Given the description of an element on the screen output the (x, y) to click on. 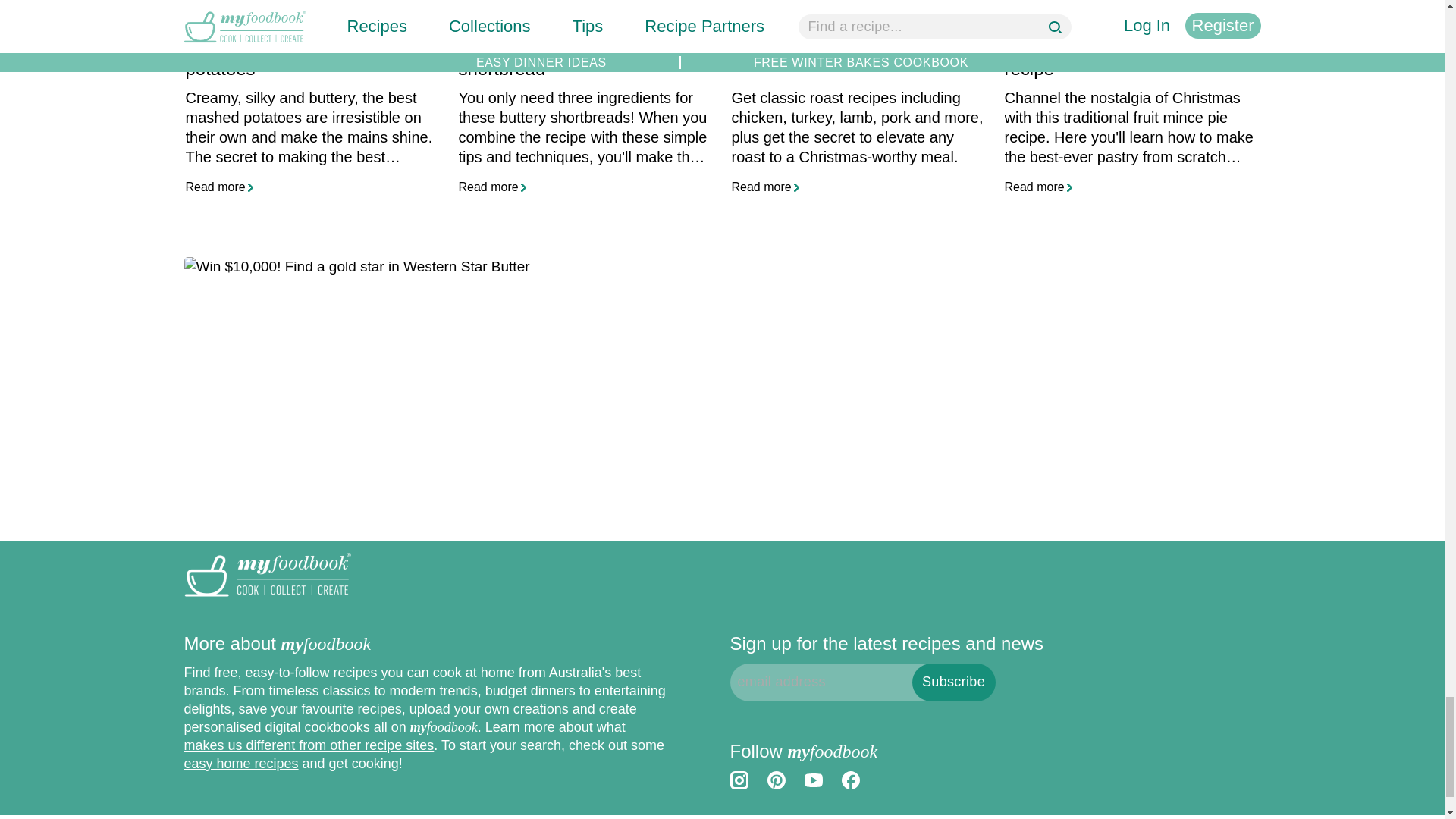
Subscribe (952, 682)
